Given the description of an element on the screen output the (x, y) to click on. 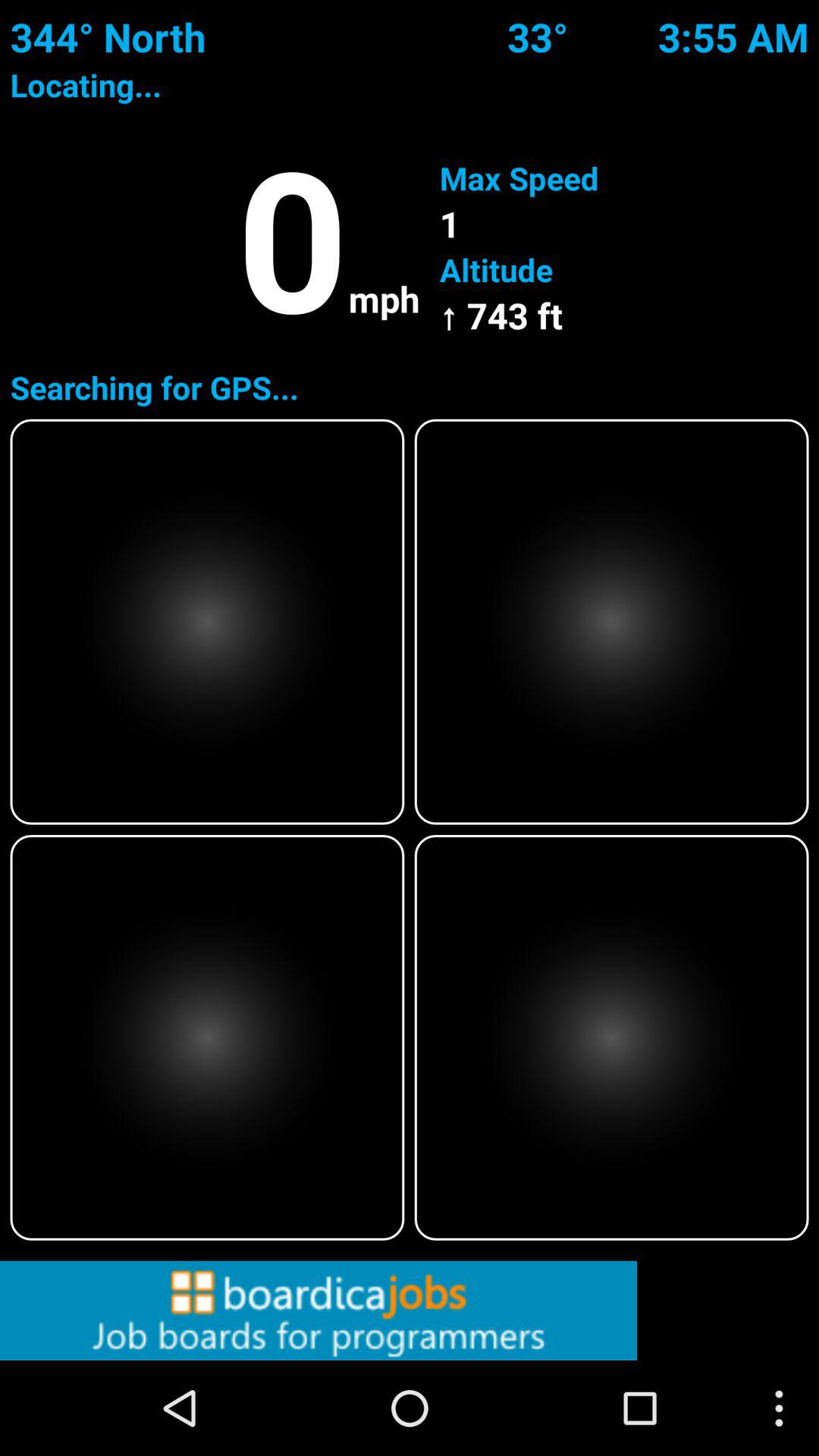
advertisement banner (409, 1310)
